Given the description of an element on the screen output the (x, y) to click on. 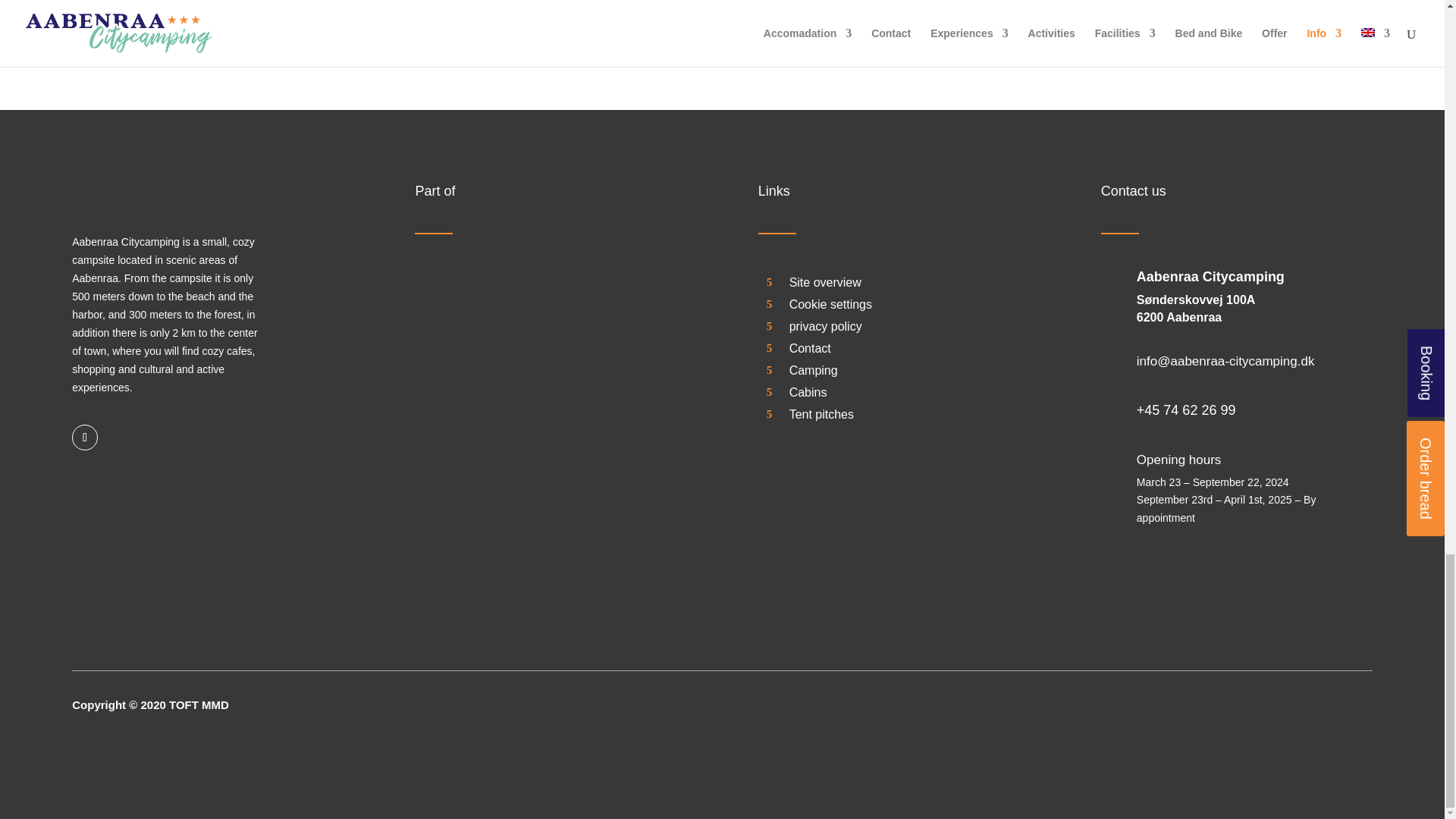
anwb (1264, 718)
Follow on Facebook (84, 437)
